Given the description of an element on the screen output the (x, y) to click on. 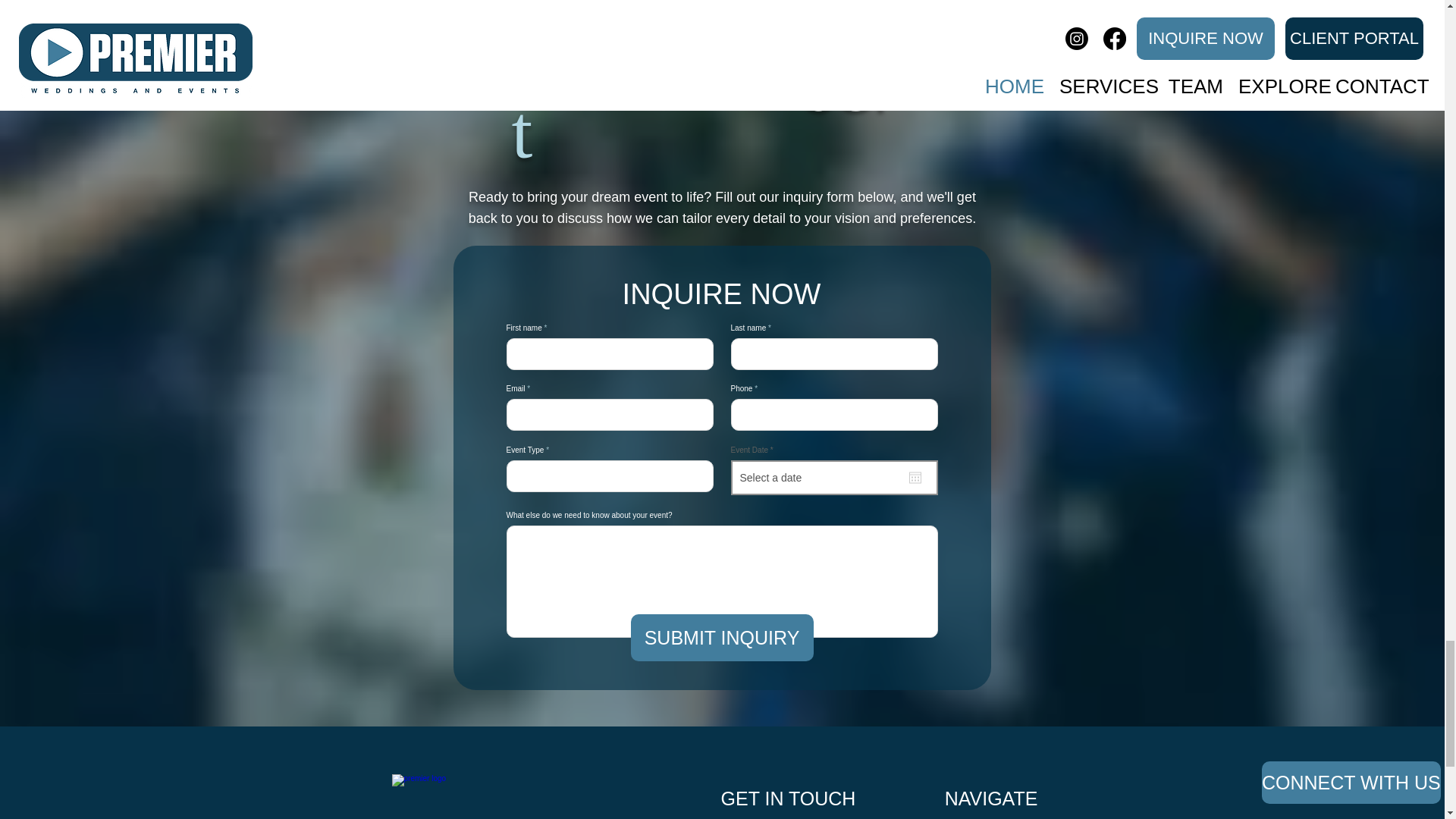
SUBMIT INQUIRY (721, 637)
